Given the description of an element on the screen output the (x, y) to click on. 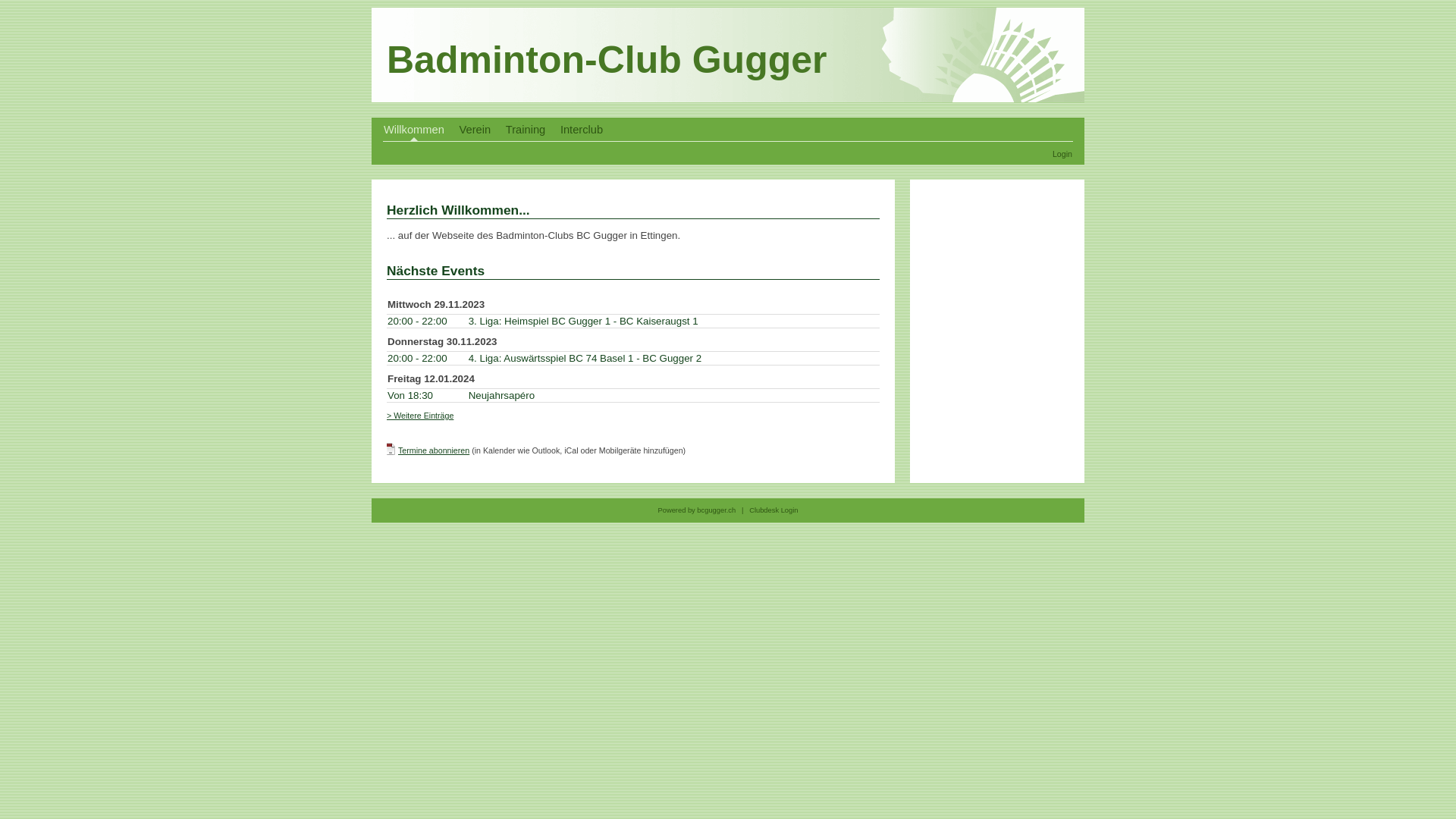
Von 18:30 Element type: text (410, 395)
Verein Element type: text (475, 129)
20:00 - 22:00 Element type: text (417, 358)
3. Liga: Heimspiel BC Gugger 1 - BC Kaiseraugst 1 Element type: text (583, 320)
Powered by bcgugger.ch Element type: text (697, 510)
Willkommen Element type: text (413, 129)
Termine abonnieren Element type: text (433, 450)
Interclub Element type: text (581, 129)
20:00 - 22:00 Element type: text (417, 320)
Clubdesk Login Element type: text (772, 510)
Login Element type: text (1062, 153)
Training Element type: text (525, 129)
